Given the description of an element on the screen output the (x, y) to click on. 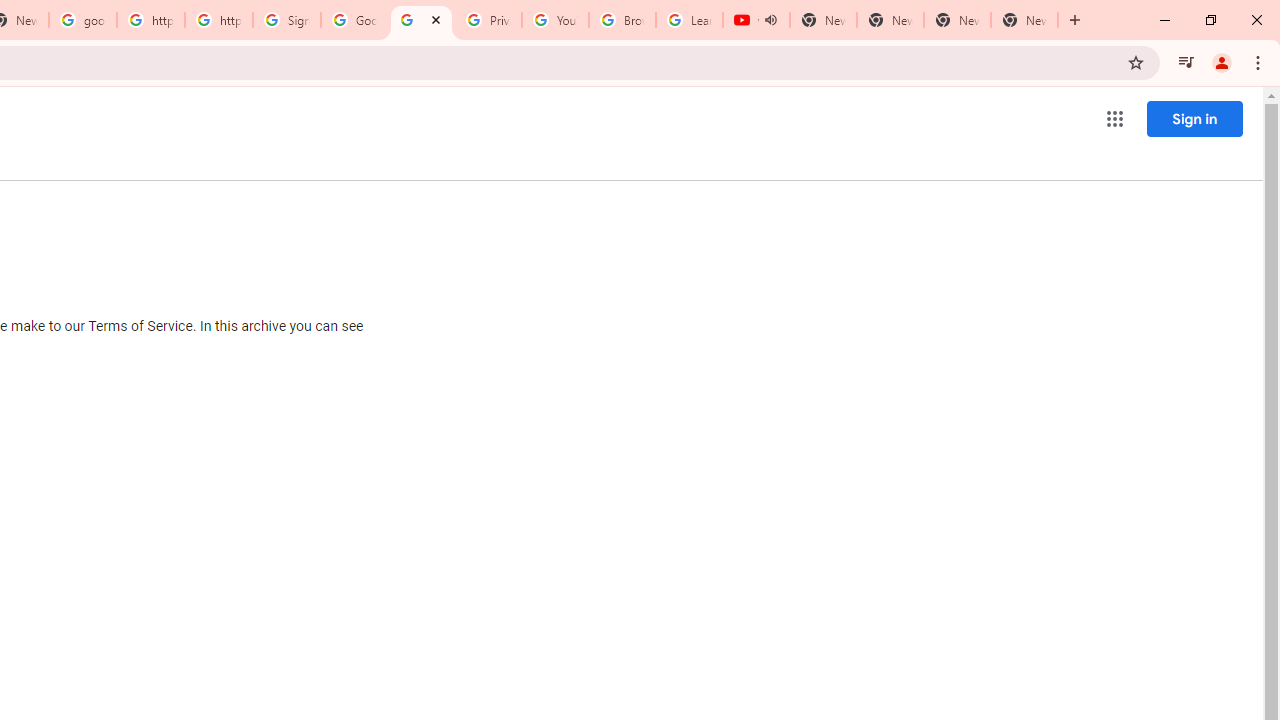
https://scholar.google.com/ (219, 20)
New Tab (1024, 20)
https://scholar.google.com/ (150, 20)
